Given the description of an element on the screen output the (x, y) to click on. 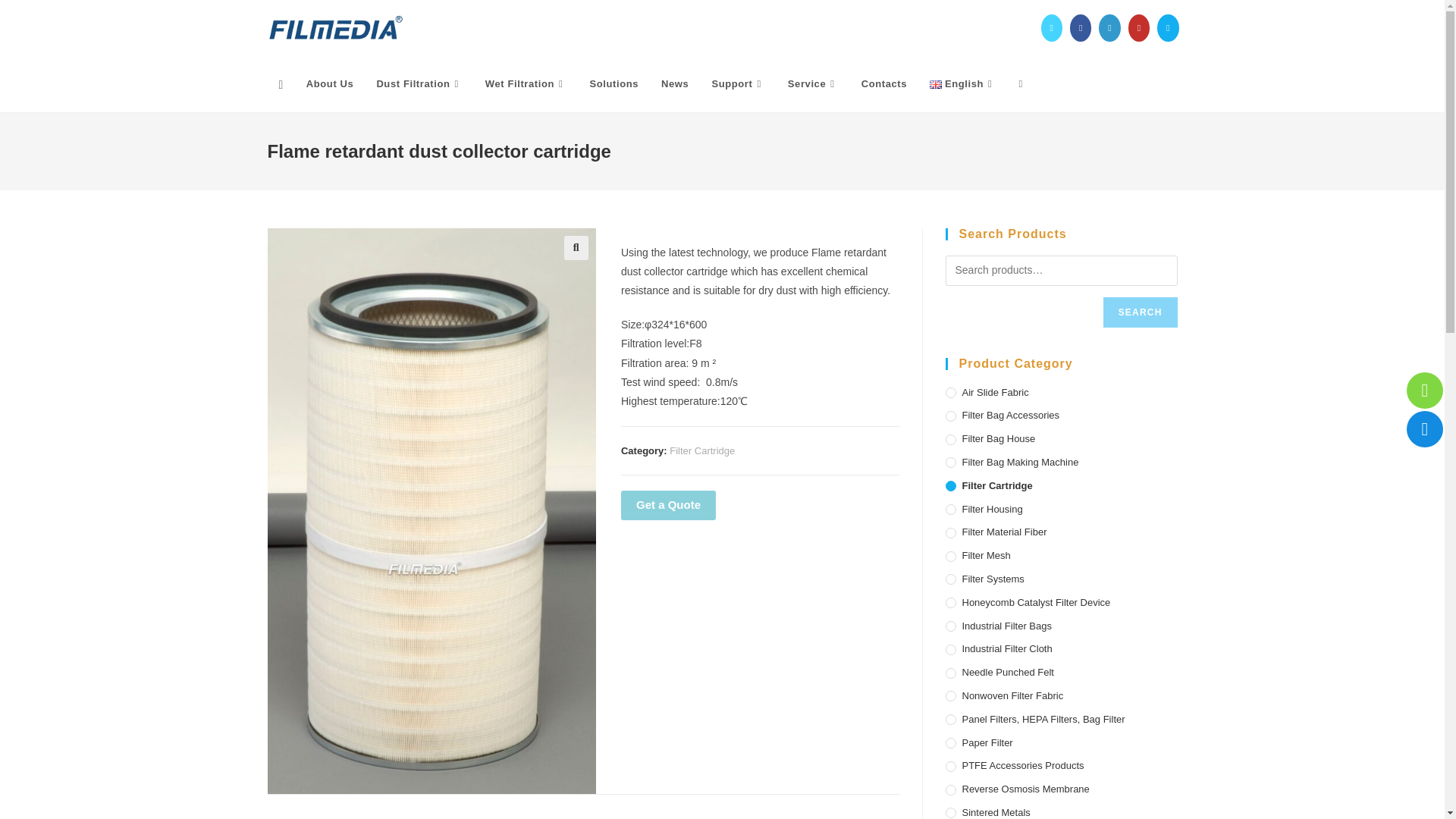
About Us (330, 84)
Dust Filtration (419, 84)
